Given the description of an element on the screen output the (x, y) to click on. 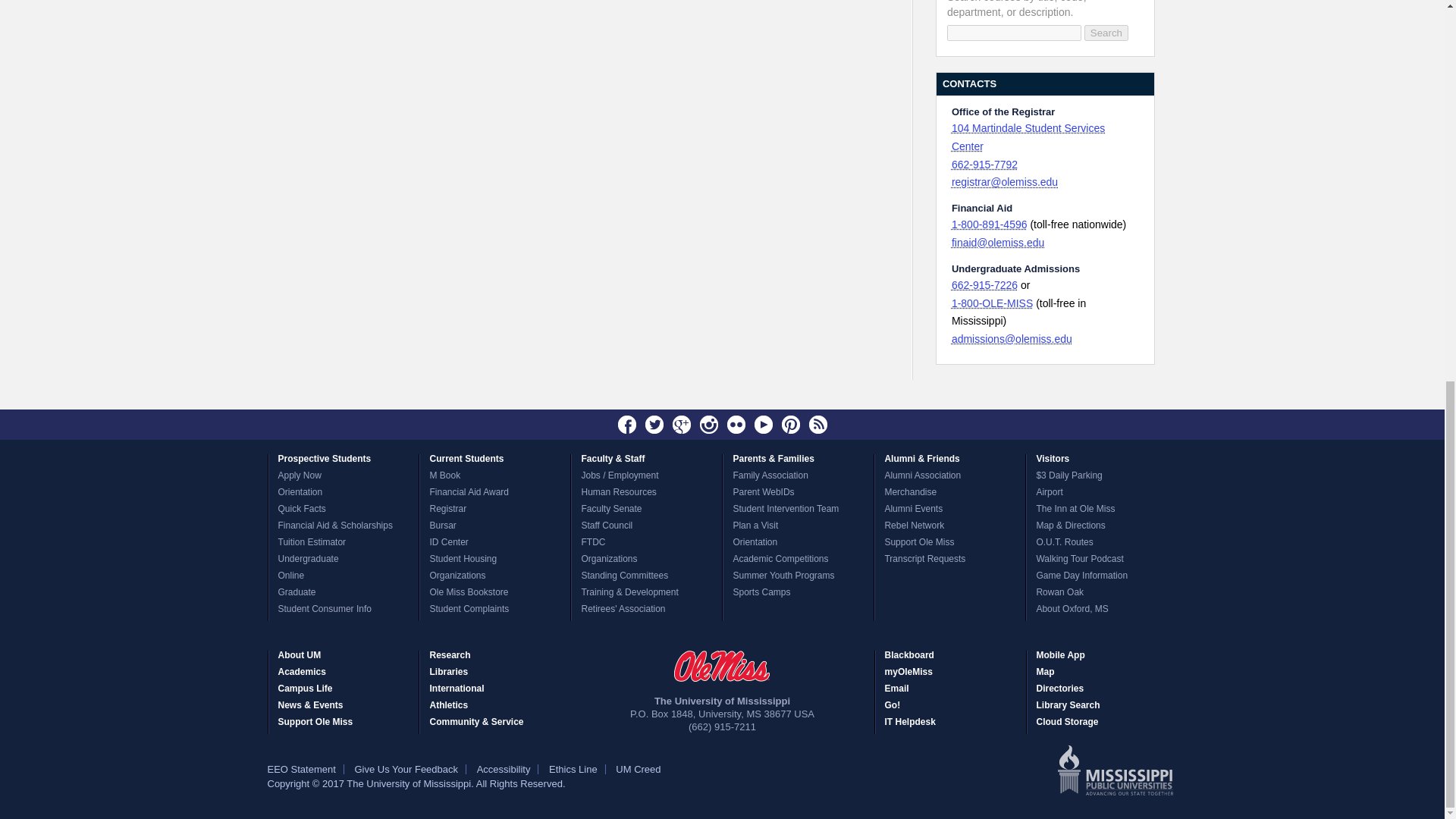
Youtube (763, 424)
Instagram (708, 424)
Search (1106, 32)
Flickr (735, 424)
News Feed (818, 424)
Pinterest (790, 424)
Facebook (627, 424)
Twitter (654, 424)
